Given the description of an element on the screen output the (x, y) to click on. 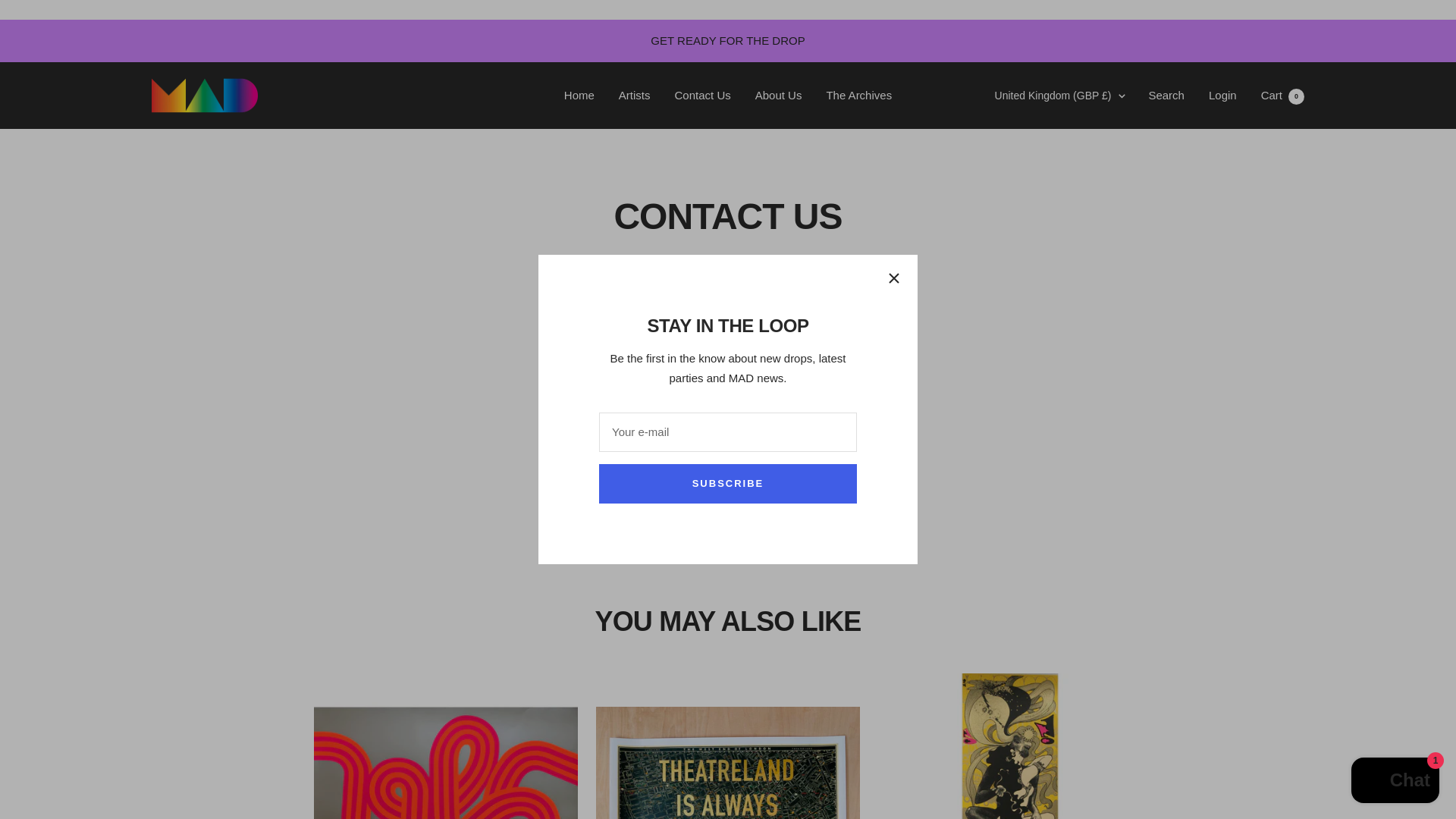
Artists (634, 95)
AM (975, 373)
AT (975, 473)
AZ (975, 497)
BO (975, 772)
BH (975, 547)
Home (579, 95)
Close (893, 277)
BY (975, 623)
SUBSCRIBE (727, 483)
BS (975, 523)
AW (975, 397)
AL (975, 198)
BM (975, 723)
AX (975, 172)
